Given the description of an element on the screen output the (x, y) to click on. 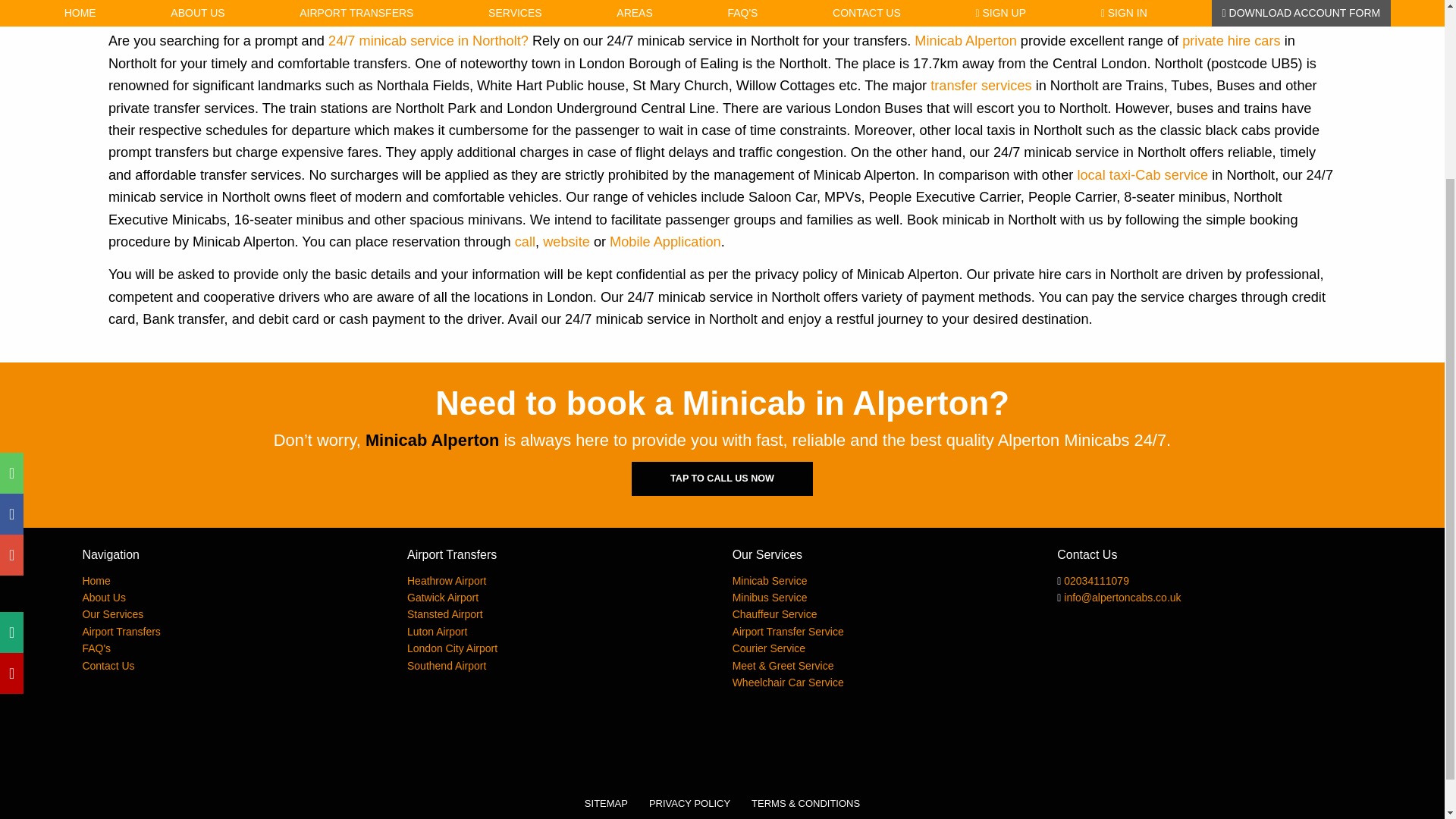
Alpertoncabs.co.uk - Alperton Minicabs (95, 580)
About Us (103, 597)
local taxi-Cab service (1142, 174)
Our Services (111, 613)
Mobile Application (665, 241)
private hire cars (1230, 40)
Home (95, 580)
Minicab Alperton (965, 40)
call (525, 241)
website (566, 241)
